Given the description of an element on the screen output the (x, y) to click on. 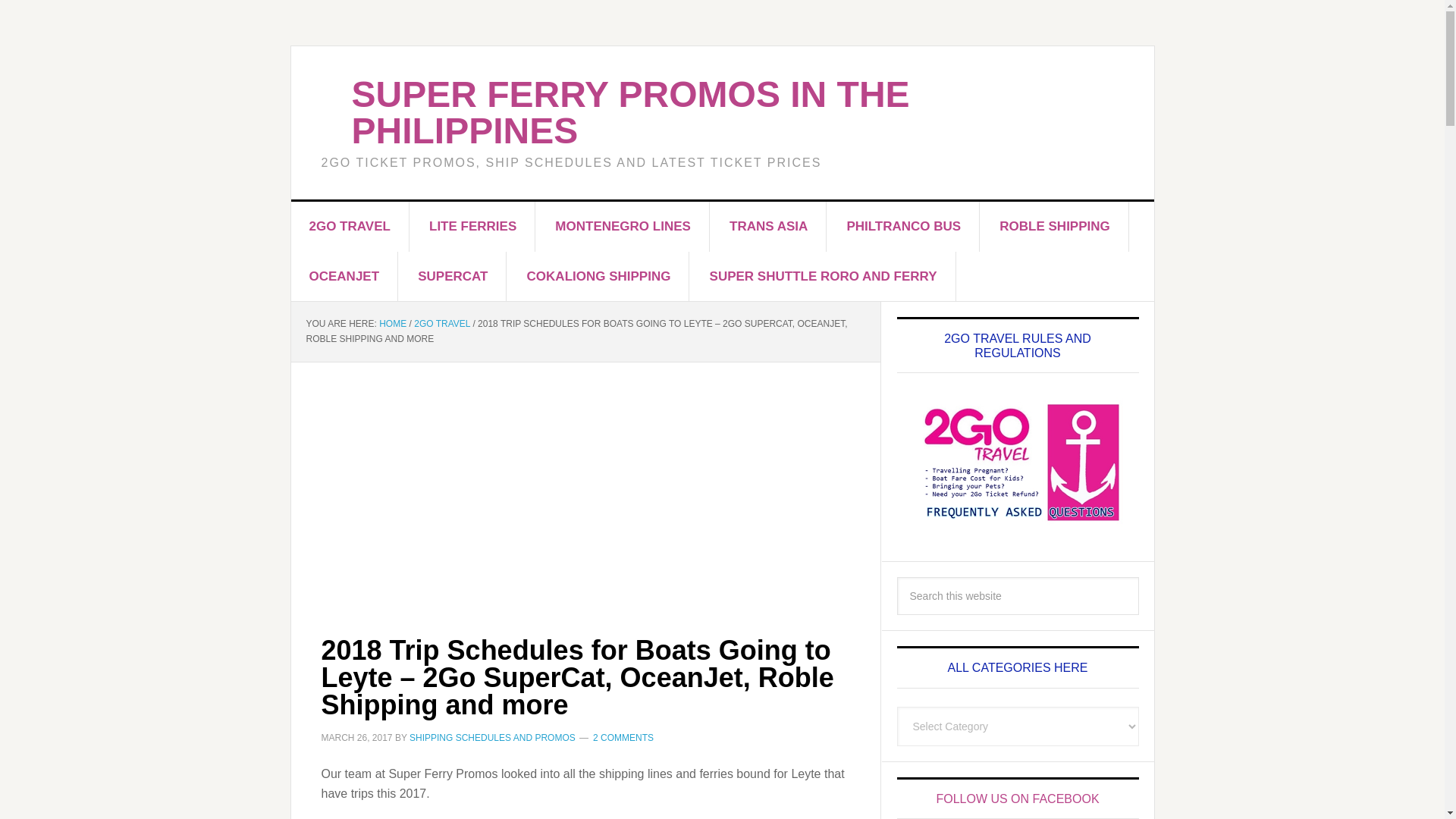
LITE FERRIES (472, 226)
2GO TRAVEL (441, 323)
PHILTRANCO BUS (903, 226)
OCEANJET (344, 276)
COKALIONG SHIPPING (599, 276)
SUPER SHUTTLE RORO AND FERRY (823, 276)
SUPER FERRY PROMOS IN THE PHILIPPINES (631, 112)
2 COMMENTS (622, 737)
